Given the description of an element on the screen output the (x, y) to click on. 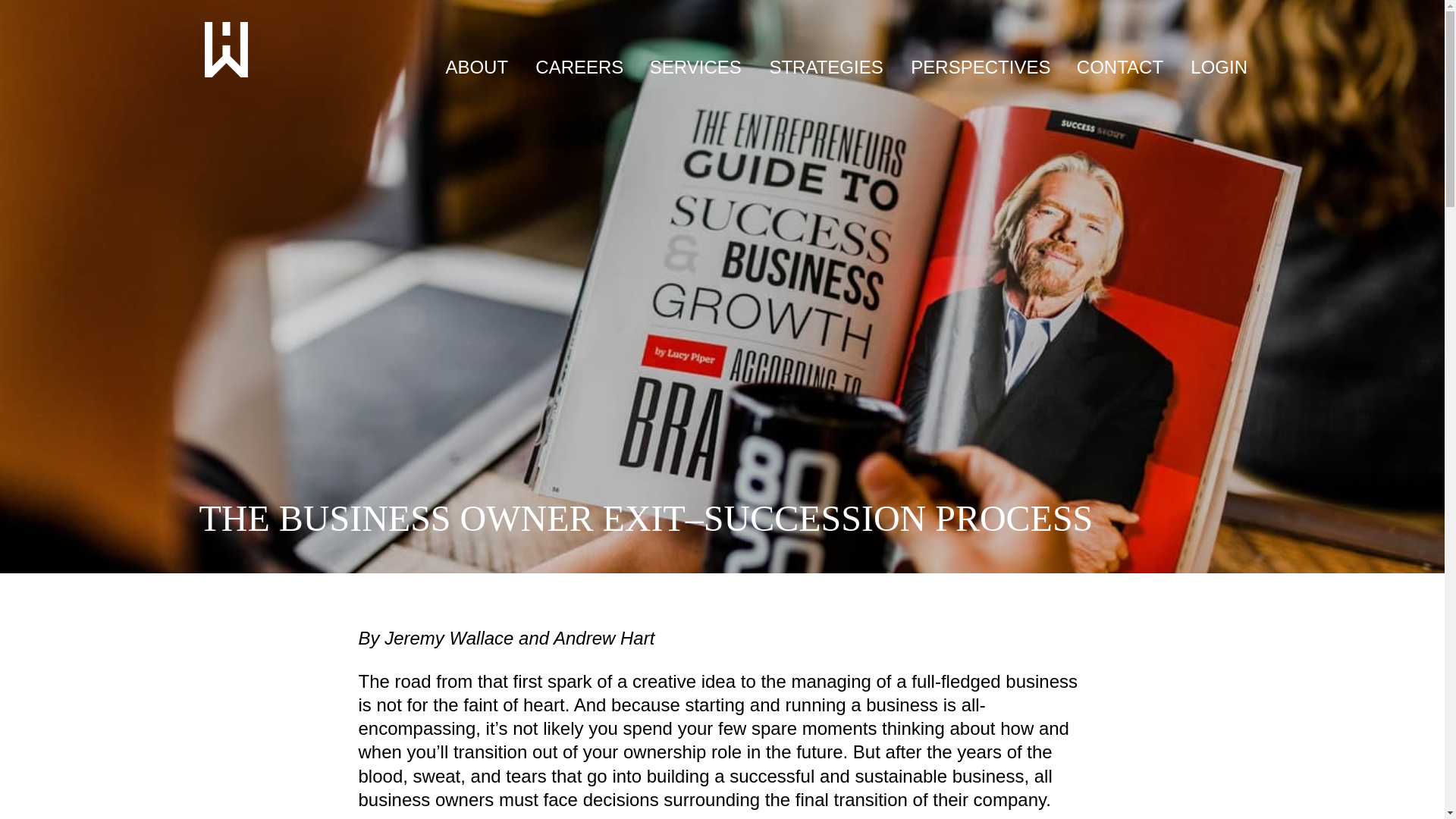
LOGIN (1219, 66)
CAREERS (579, 66)
CONTACT (1120, 66)
ABOUT (475, 66)
SERVICES (695, 66)
STRATEGIES (825, 66)
PERSPECTIVES (980, 66)
